Given the description of an element on the screen output the (x, y) to click on. 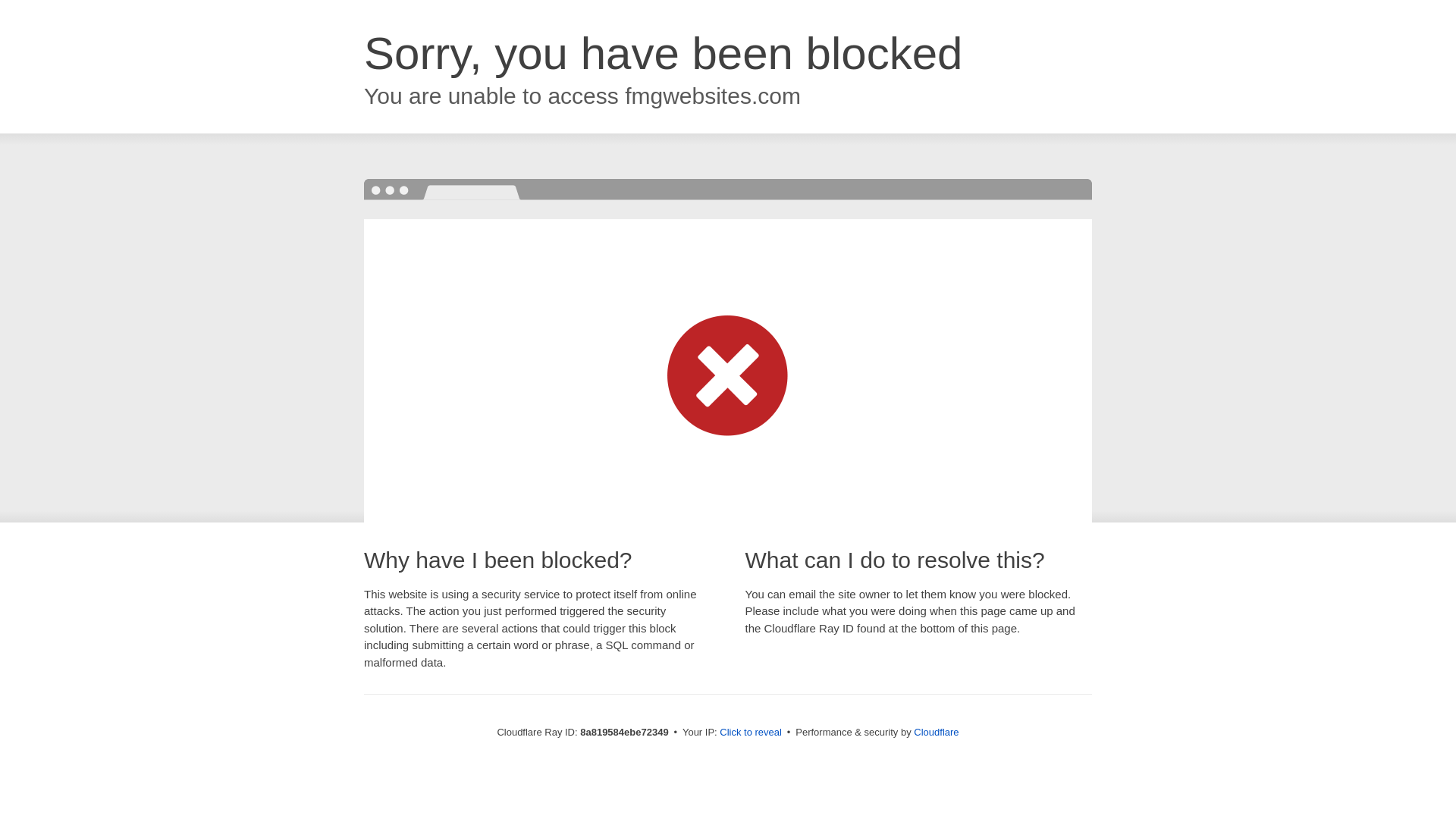
Click to reveal (750, 732)
Cloudflare (936, 731)
